Given the description of an element on the screen output the (x, y) to click on. 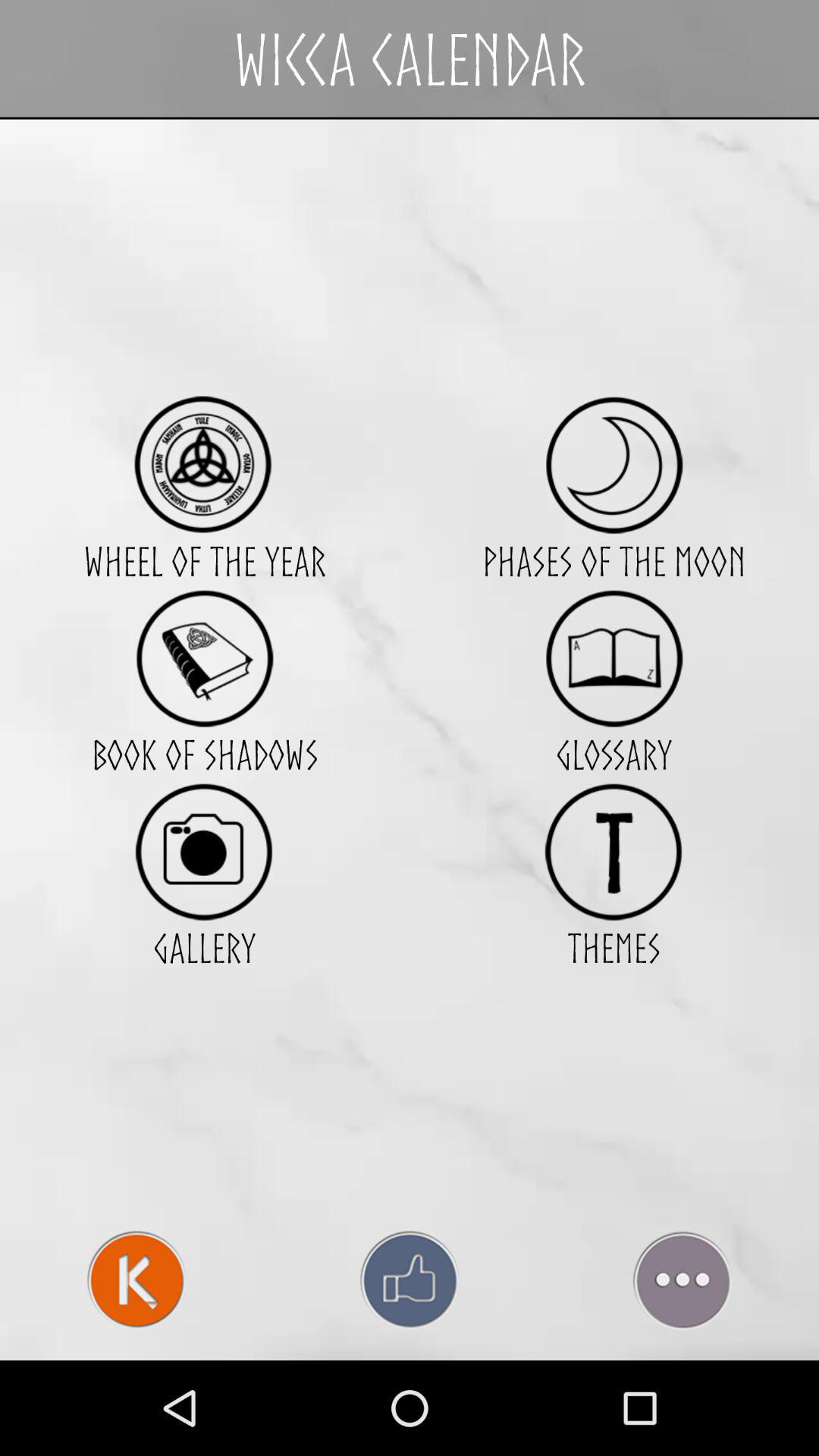
turn off the icon above the gallery app (204, 851)
